Given the description of an element on the screen output the (x, y) to click on. 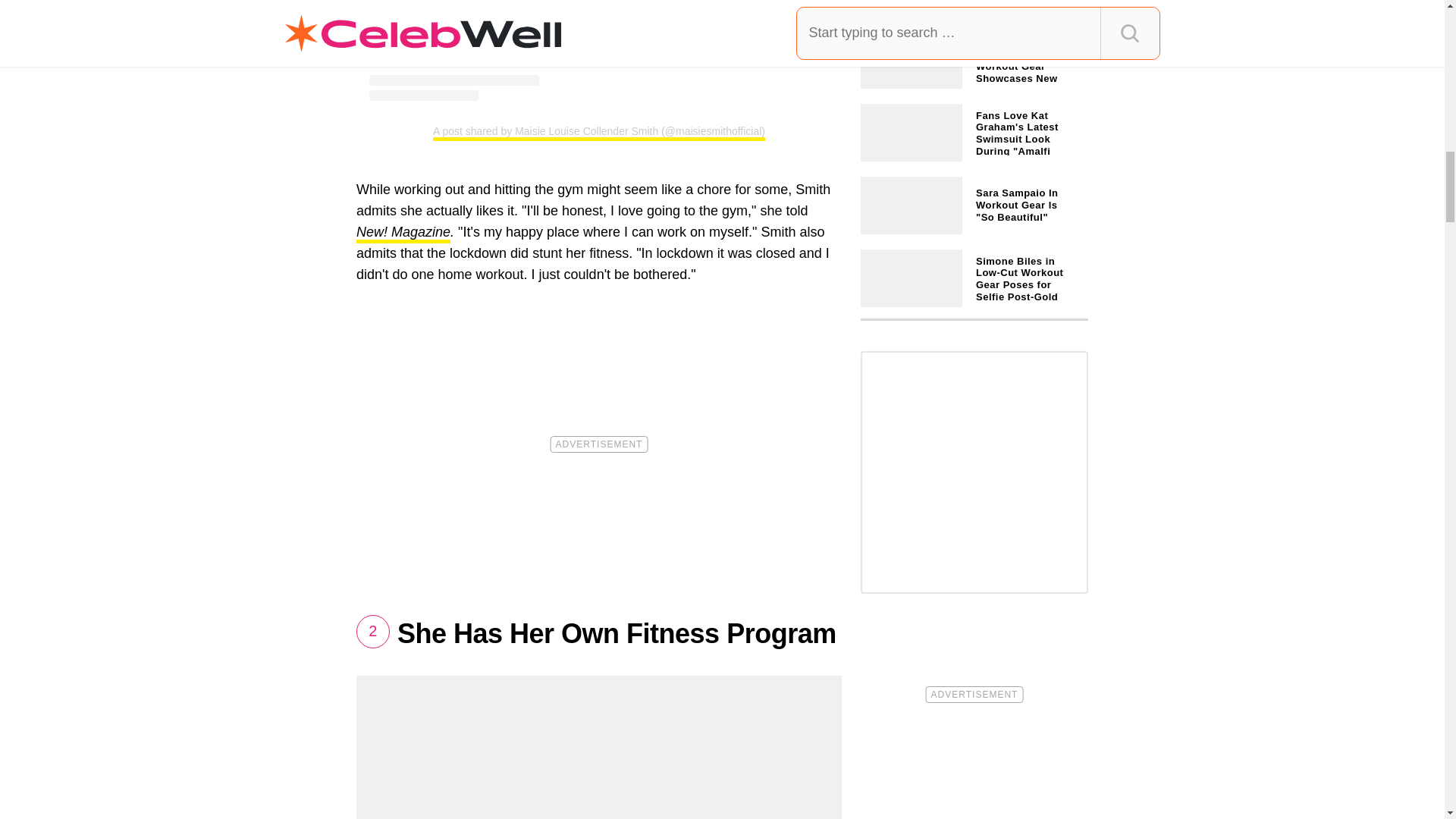
New! Magazine (402, 233)
View this post on Instagram (598, 50)
